Given the description of an element on the screen output the (x, y) to click on. 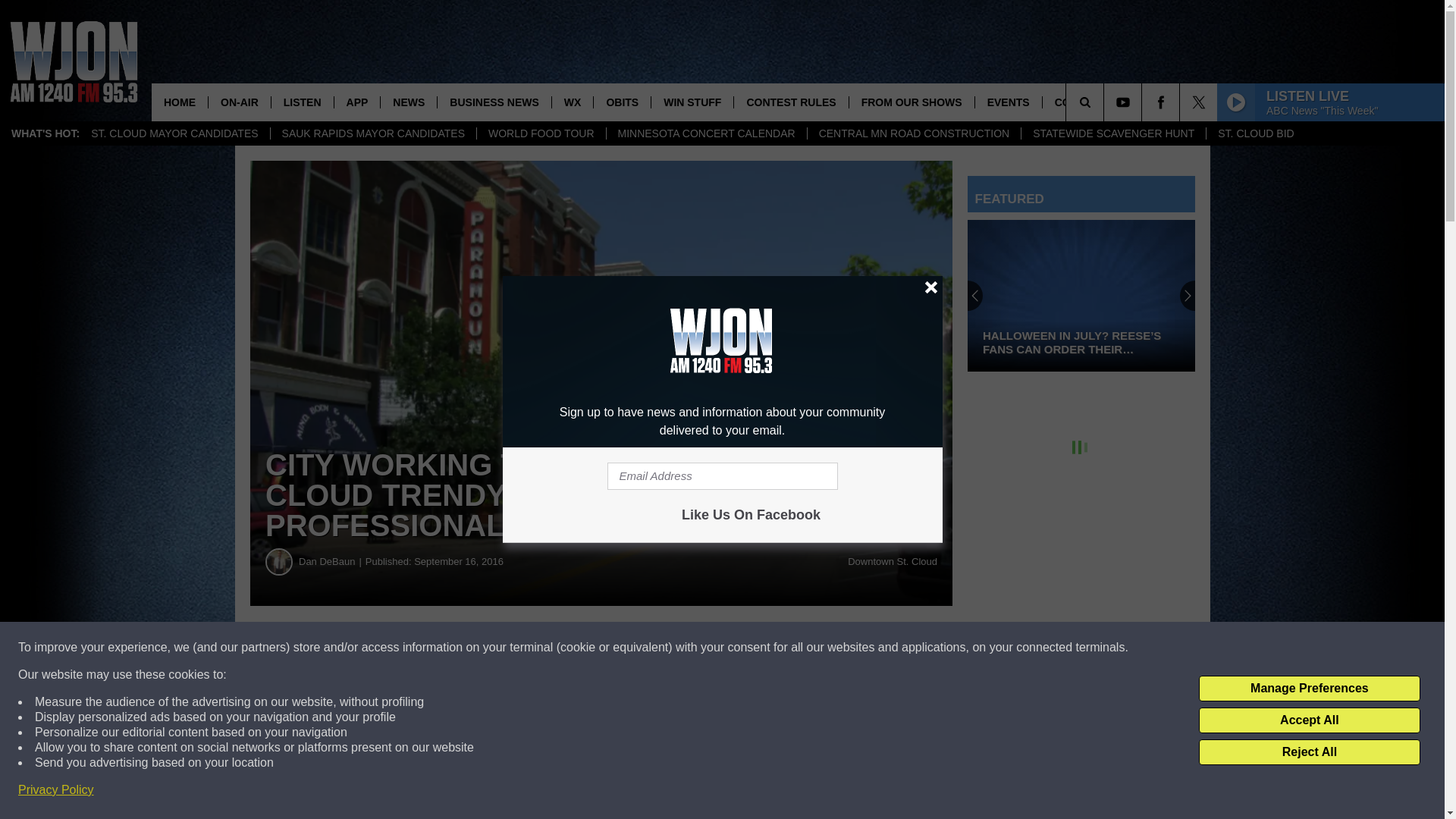
CENTRAL MN ROAD CONSTRUCTION (914, 133)
HOME (179, 102)
ST. CLOUD MAYOR CANDIDATES (174, 133)
Email Address (722, 475)
Manage Preferences (1309, 688)
SEARCH (1106, 102)
MINNESOTA CONCERT CALENDAR (705, 133)
Privacy Policy (55, 789)
Reject All (1309, 751)
Accept All (1309, 720)
ON-AIR (239, 102)
SAUK RAPIDS MAYOR CANDIDATES (372, 133)
STATEWIDE SCAVENGER HUNT (1112, 133)
ST. CLOUD BID (1254, 133)
Share on Facebook (460, 647)
